Given the description of an element on the screen output the (x, y) to click on. 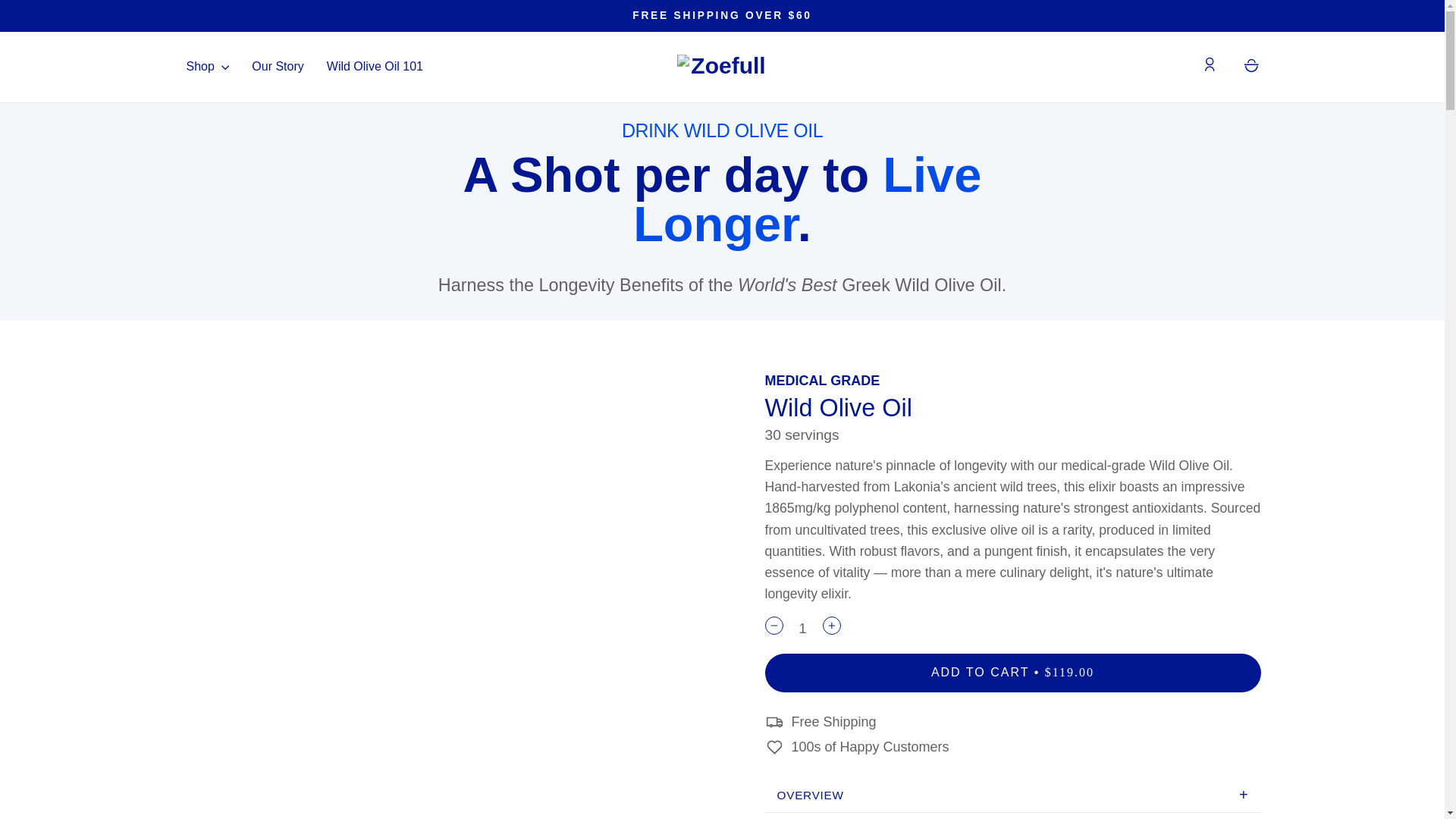
Log in (1209, 66)
1 (802, 628)
Our Story (277, 66)
Wild Olive Oil 101 (374, 66)
Cart (1251, 66)
